Given the description of an element on the screen output the (x, y) to click on. 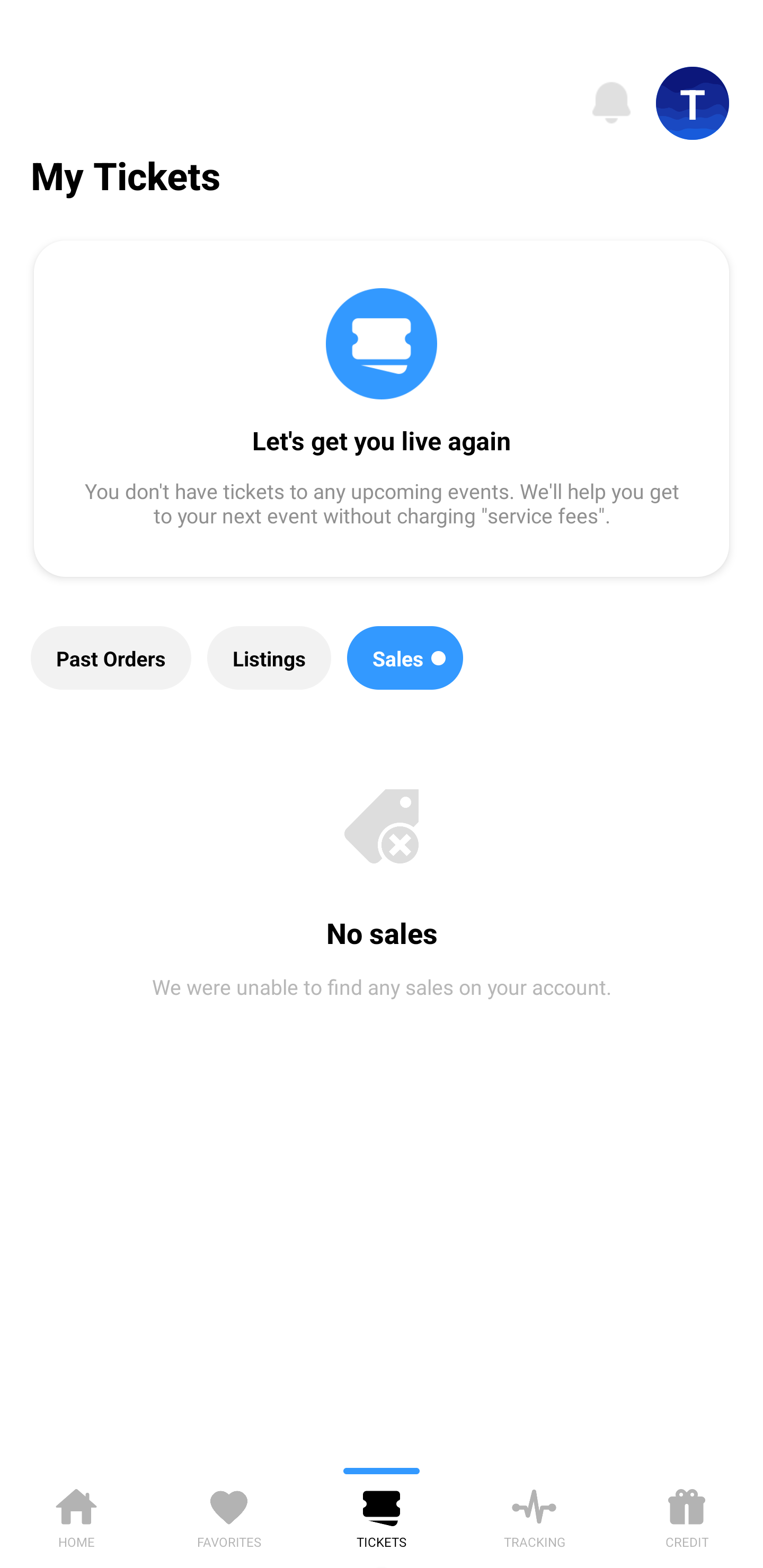
T (692, 103)
Past Orders (110, 657)
Listings (269, 657)
Sales (405, 657)
HOME (76, 1515)
FAVORITES (228, 1515)
TICKETS (381, 1515)
TRACKING (533, 1515)
CREDIT (686, 1515)
